Given the description of an element on the screen output the (x, y) to click on. 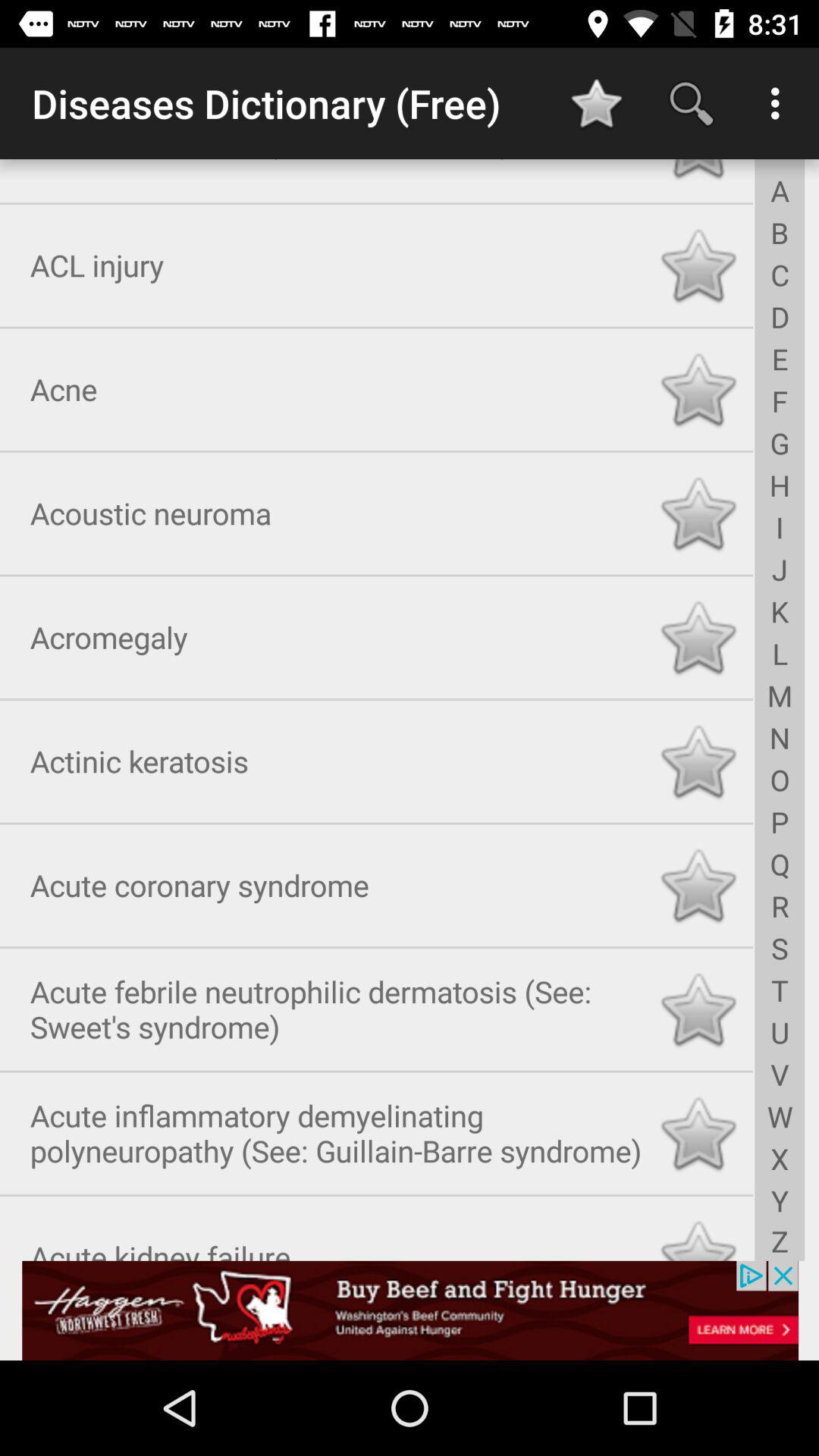
add to favorites (697, 1234)
